Given the description of an element on the screen output the (x, y) to click on. 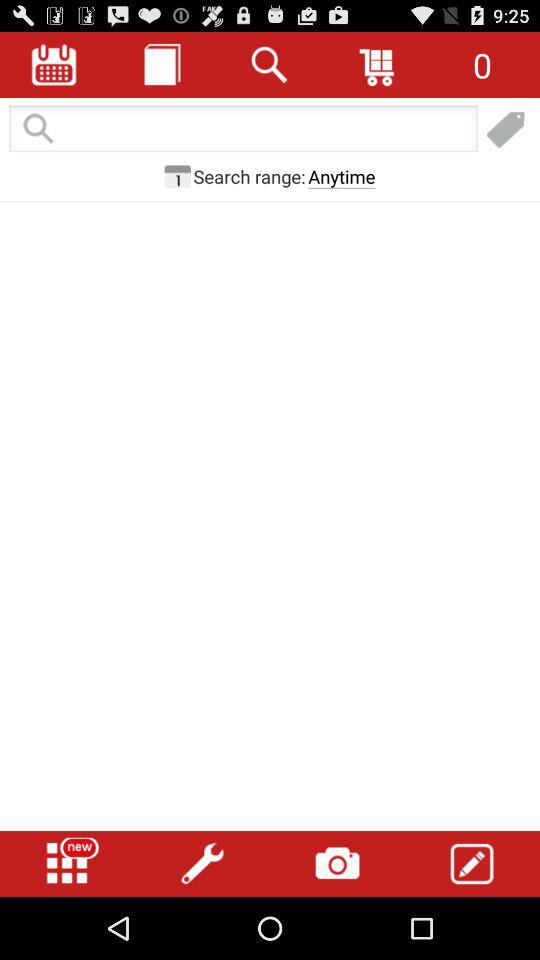
make a new journal entry (506, 130)
